Given the description of an element on the screen output the (x, y) to click on. 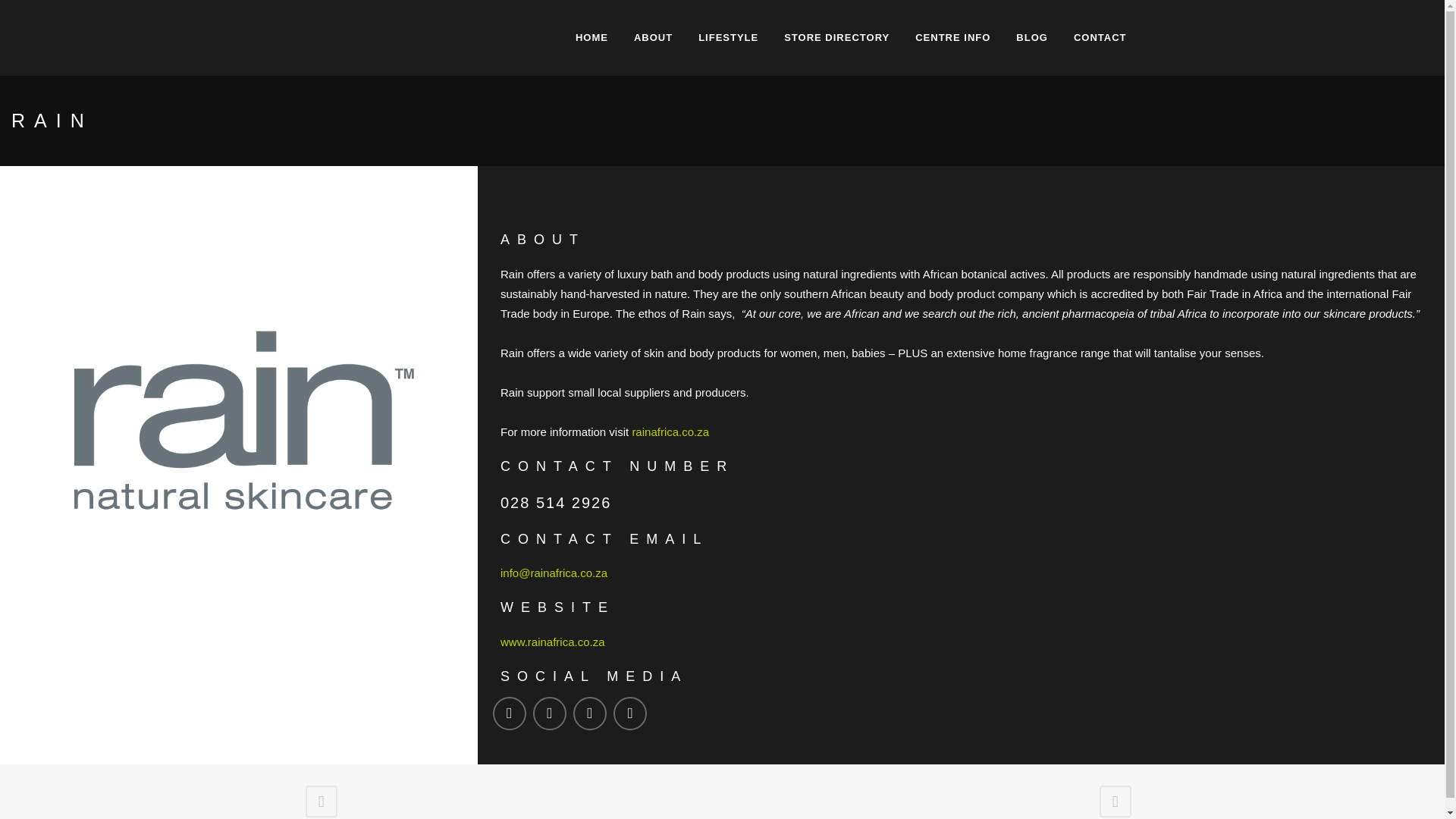
CONTACT (1100, 38)
LIFESTYLE (728, 38)
www.rainafrica.co.za (552, 641)
CENTRE INFO (952, 38)
STORE DIRECTORY (836, 38)
rainafrica.co.za (670, 431)
